Given the description of an element on the screen output the (x, y) to click on. 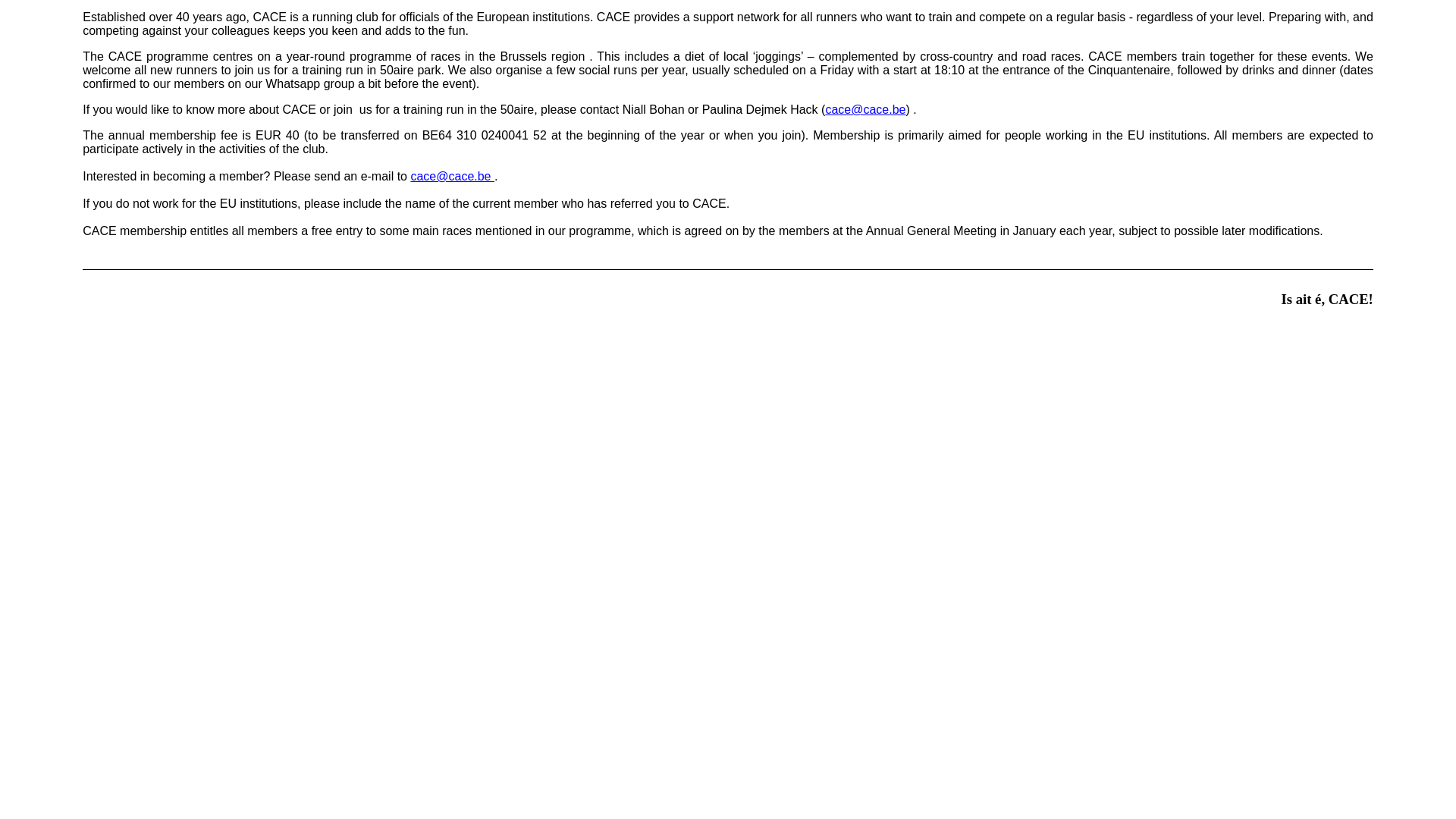
cace@cace.be Element type: text (452, 175)
cace@cace.be Element type: text (865, 109)
